Given the description of an element on the screen output the (x, y) to click on. 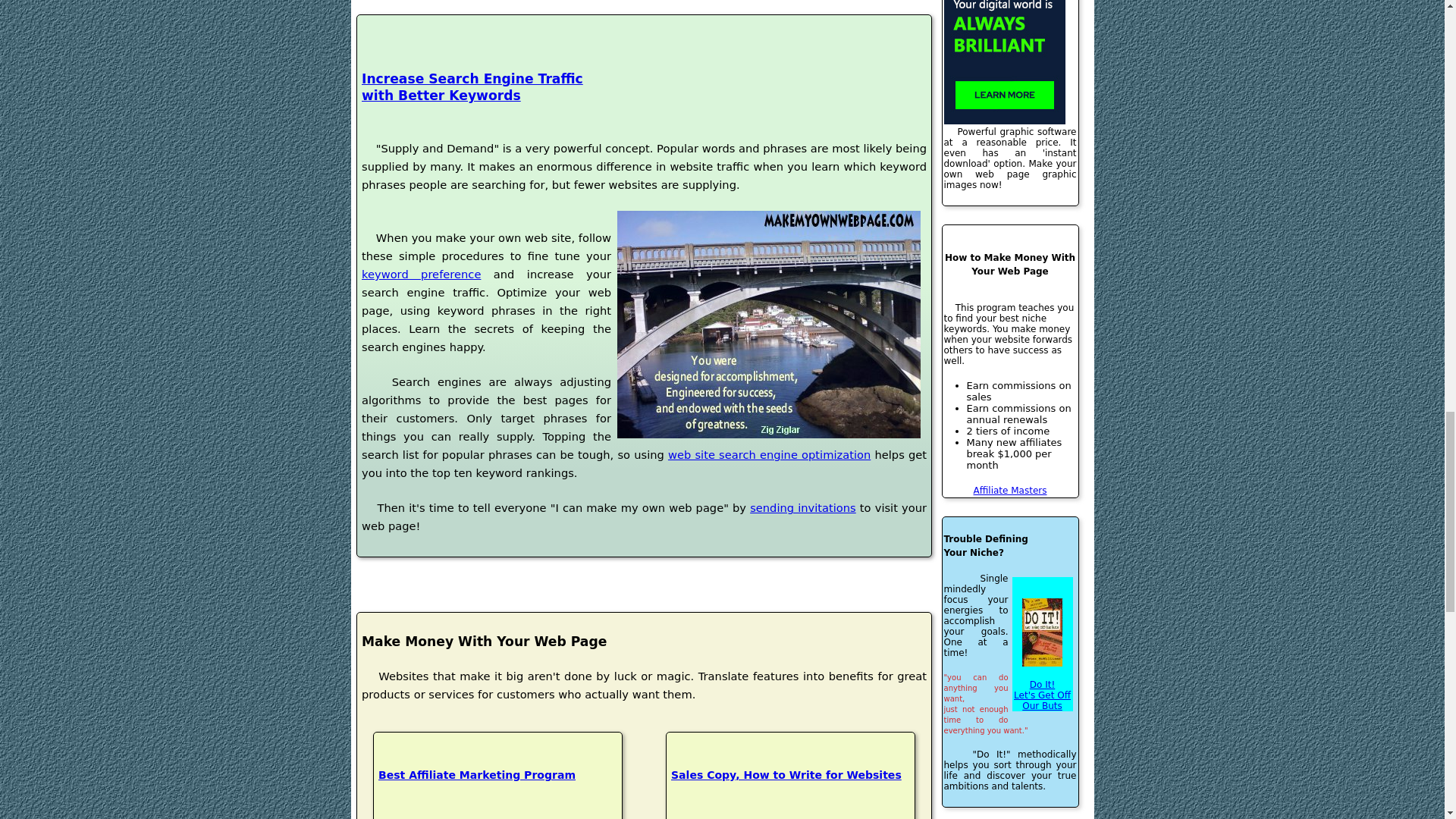
sending invitations (802, 507)
Best Affiliate Marketing Program (497, 794)
You were designed for success (768, 324)
Sales Copy, How to Write for Websites (790, 794)
keyword preference (472, 87)
web site search engine optimization (420, 273)
